Given the description of an element on the screen output the (x, y) to click on. 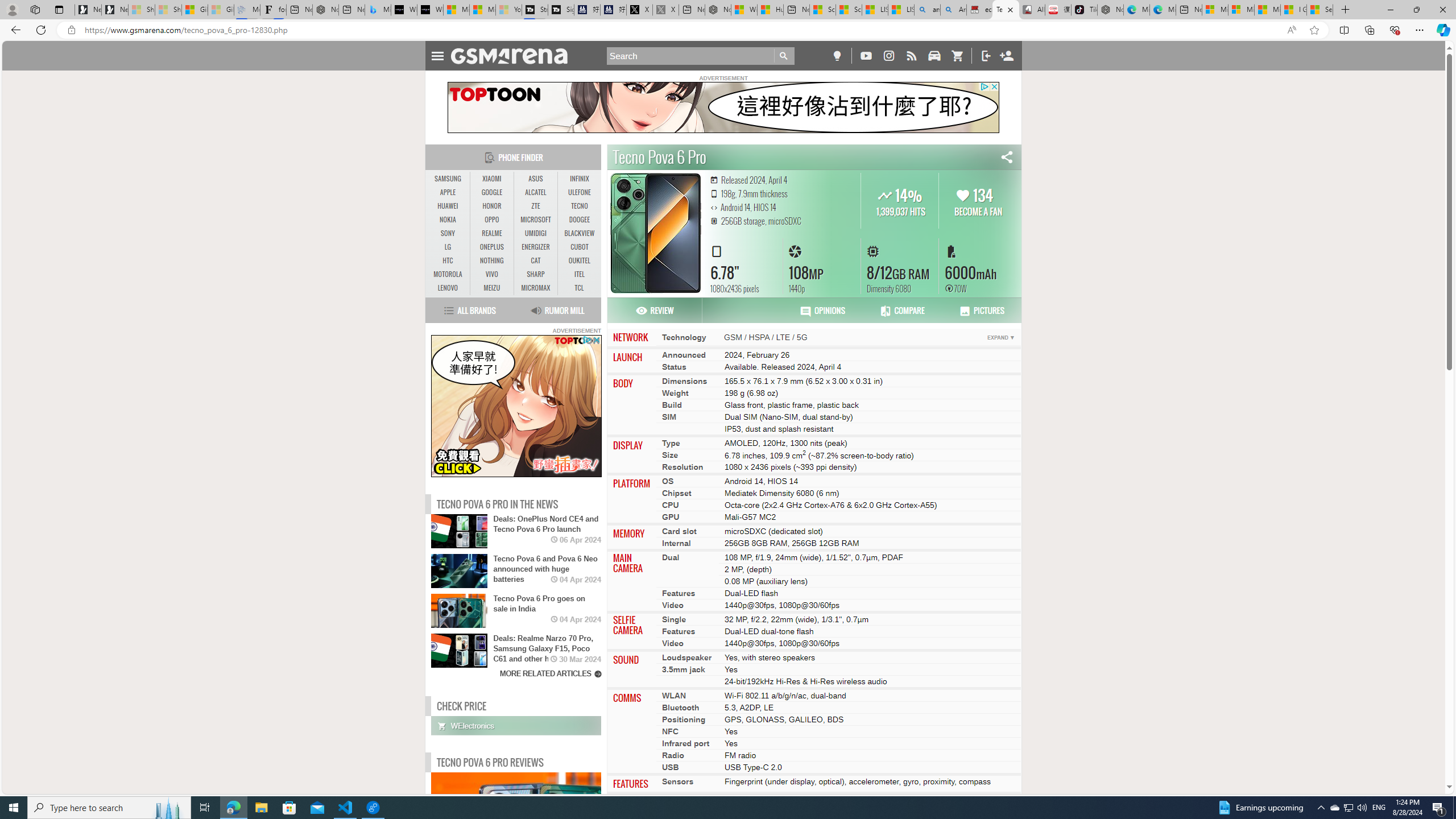
WLAN (673, 696)
Nordace - My Account (717, 9)
Bluetooth (680, 707)
NOKIA (448, 219)
SHARP (535, 273)
MOTOROLA (448, 273)
Tecno Pova 6 Pro user reviews and opinions (822, 310)
Go (784, 55)
TECNO (579, 205)
INFINIX (579, 178)
Huge shark washes ashore at New York City beach | Watch (769, 9)
